Given the description of an element on the screen output the (x, y) to click on. 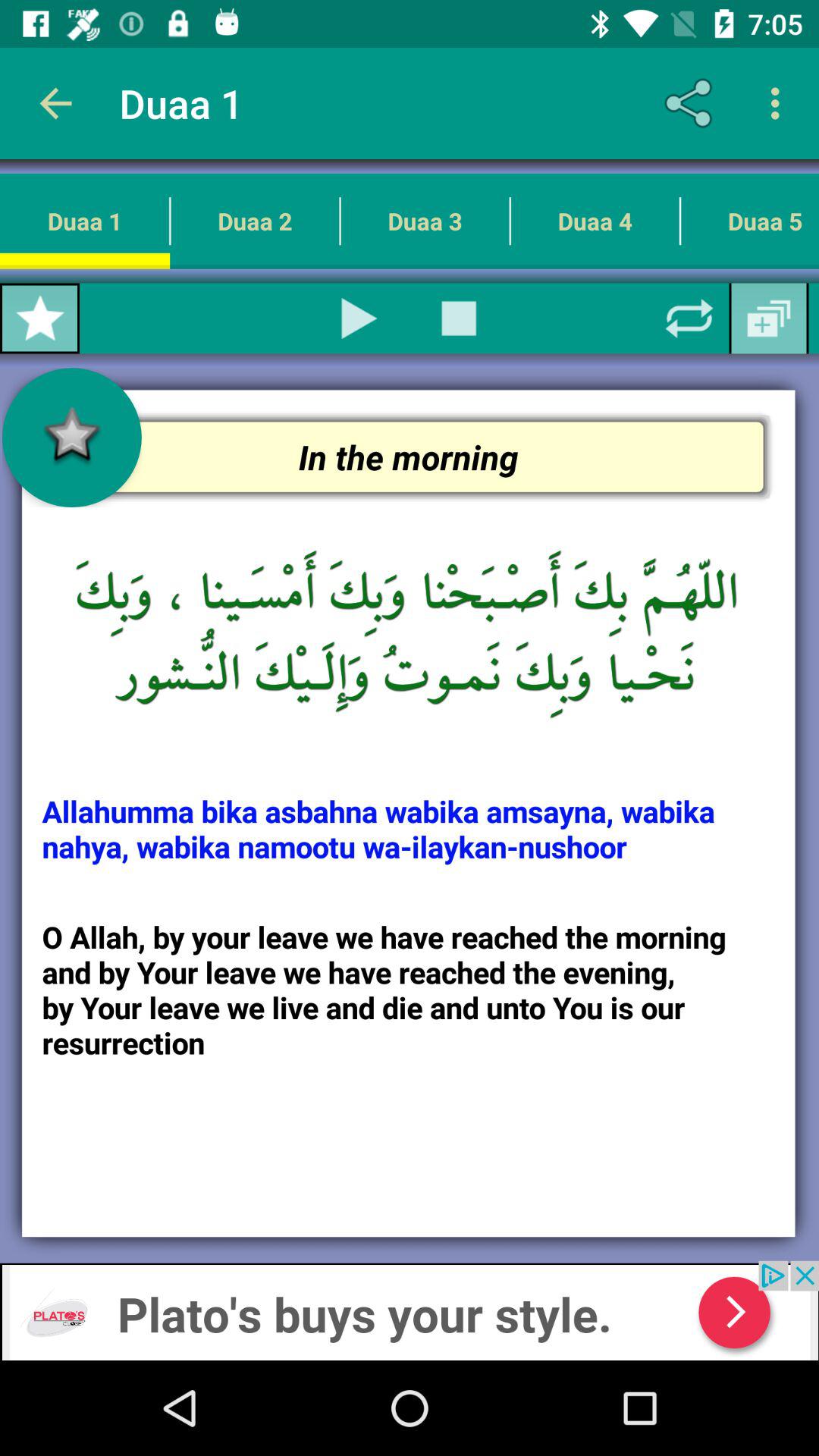
refresh items (689, 318)
